Given the description of an element on the screen output the (x, y) to click on. 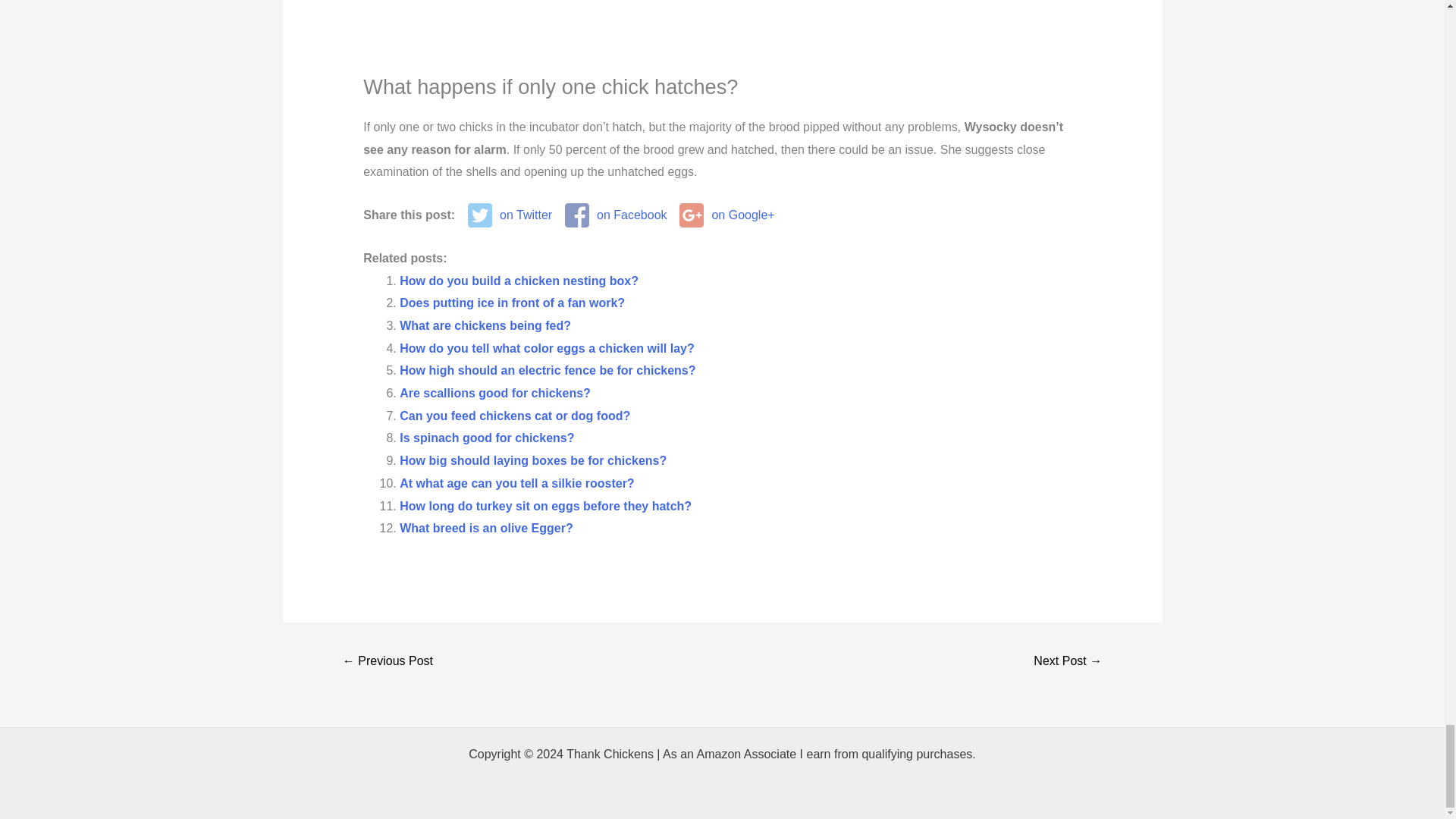
How high should an electric fence be for chickens? (546, 369)
What are chickens being fed? (484, 325)
How high should an electric fence be for chickens? (546, 369)
on Facebook (615, 215)
How big should laying boxes be for chickens? (532, 460)
Does putting ice in front of a fan work? (511, 302)
How do you tell what color eggs a chicken will lay? (546, 348)
How do you build a chicken nesting box? (518, 280)
How do you build a chicken nesting box? (518, 280)
Amazing fact to find male and female eggs (721, 36)
Are scallions good for chickens? (494, 392)
Can you feed chickens cat or dog food? (514, 415)
on Twitter (510, 215)
Are scallions good for chickens? (494, 392)
What are chickens being fed? (484, 325)
